Given the description of an element on the screen output the (x, y) to click on. 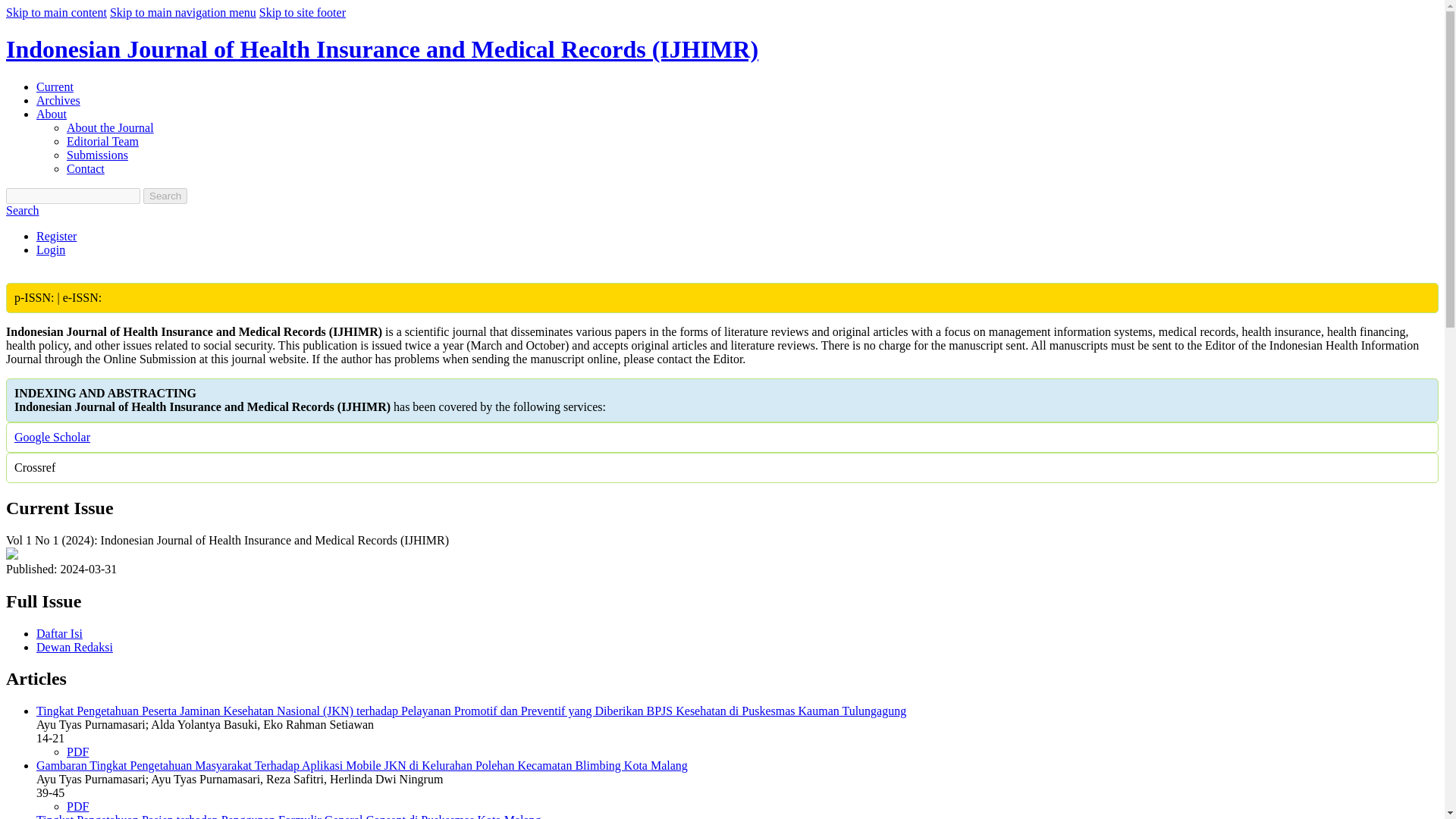
Google Scholar (52, 436)
Daftar Isi (59, 632)
Skip to main navigation menu (183, 11)
Skip to site footer (302, 11)
About the Journal (110, 127)
PDF (77, 751)
Current (55, 86)
Register (56, 236)
PDF (77, 806)
